Given the description of an element on the screen output the (x, y) to click on. 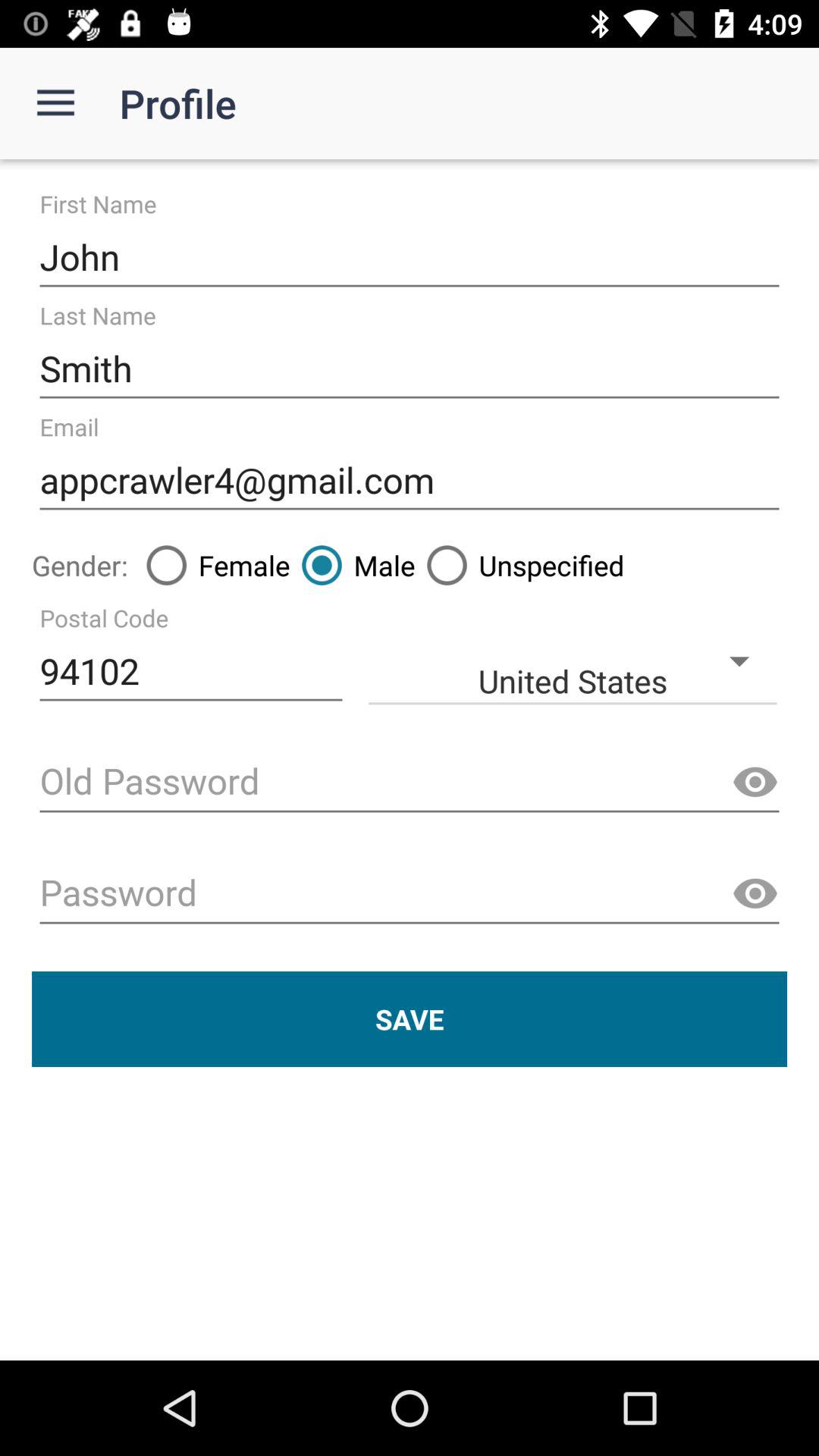
turn off the item next to gender: (212, 565)
